Given the description of an element on the screen output the (x, y) to click on. 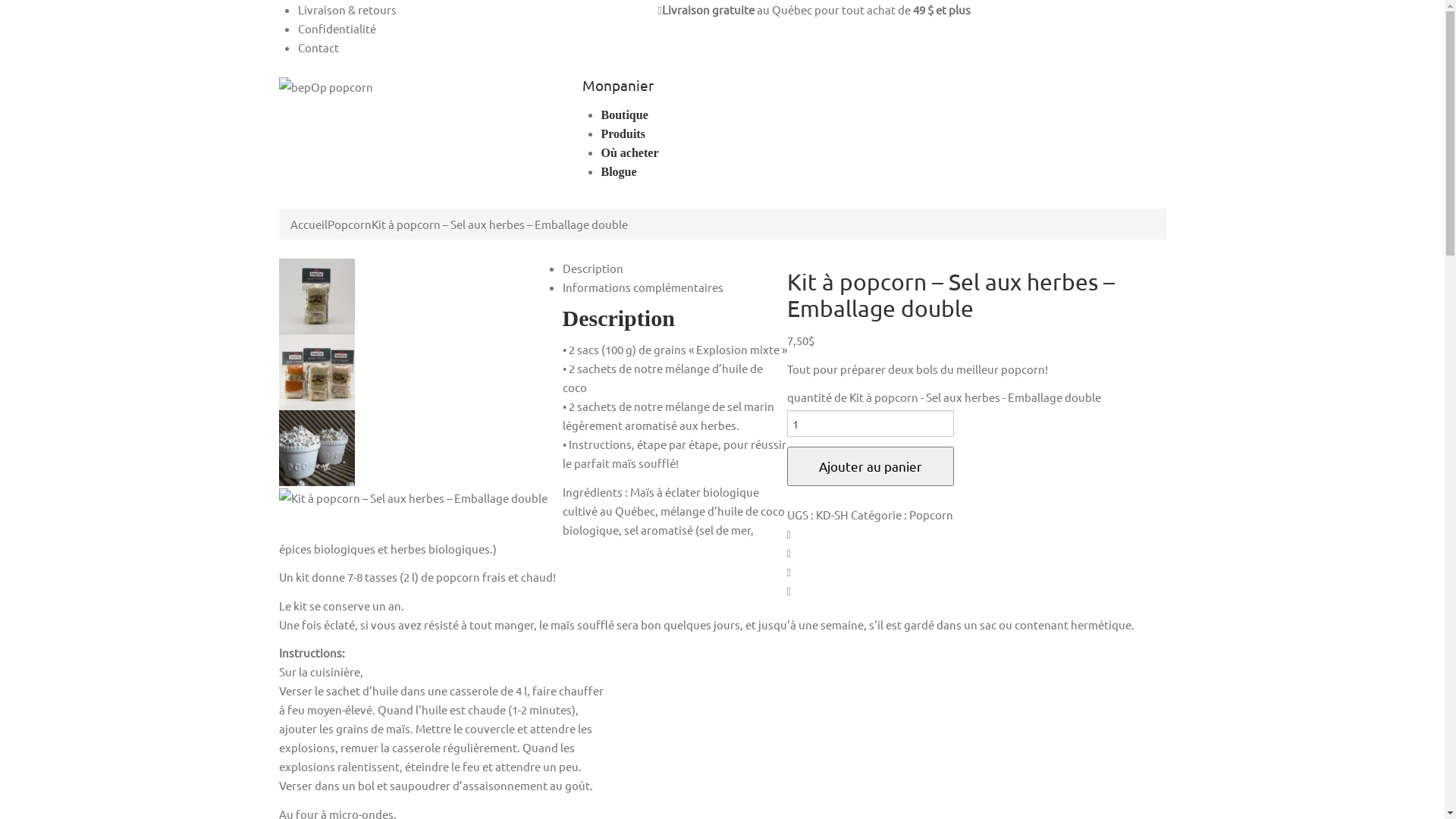
Blogue Element type: text (618, 171)
Boutique Element type: text (623, 113)
Produits Element type: text (622, 133)
Livraison & retours Element type: text (346, 9)
Accueil Element type: text (307, 223)
Description Element type: text (592, 267)
Contact Element type: text (317, 47)
Ajouter au panier Element type: text (870, 465)
Popcorn Element type: text (349, 223)
Popcorn Element type: text (930, 513)
